Given the description of an element on the screen output the (x, y) to click on. 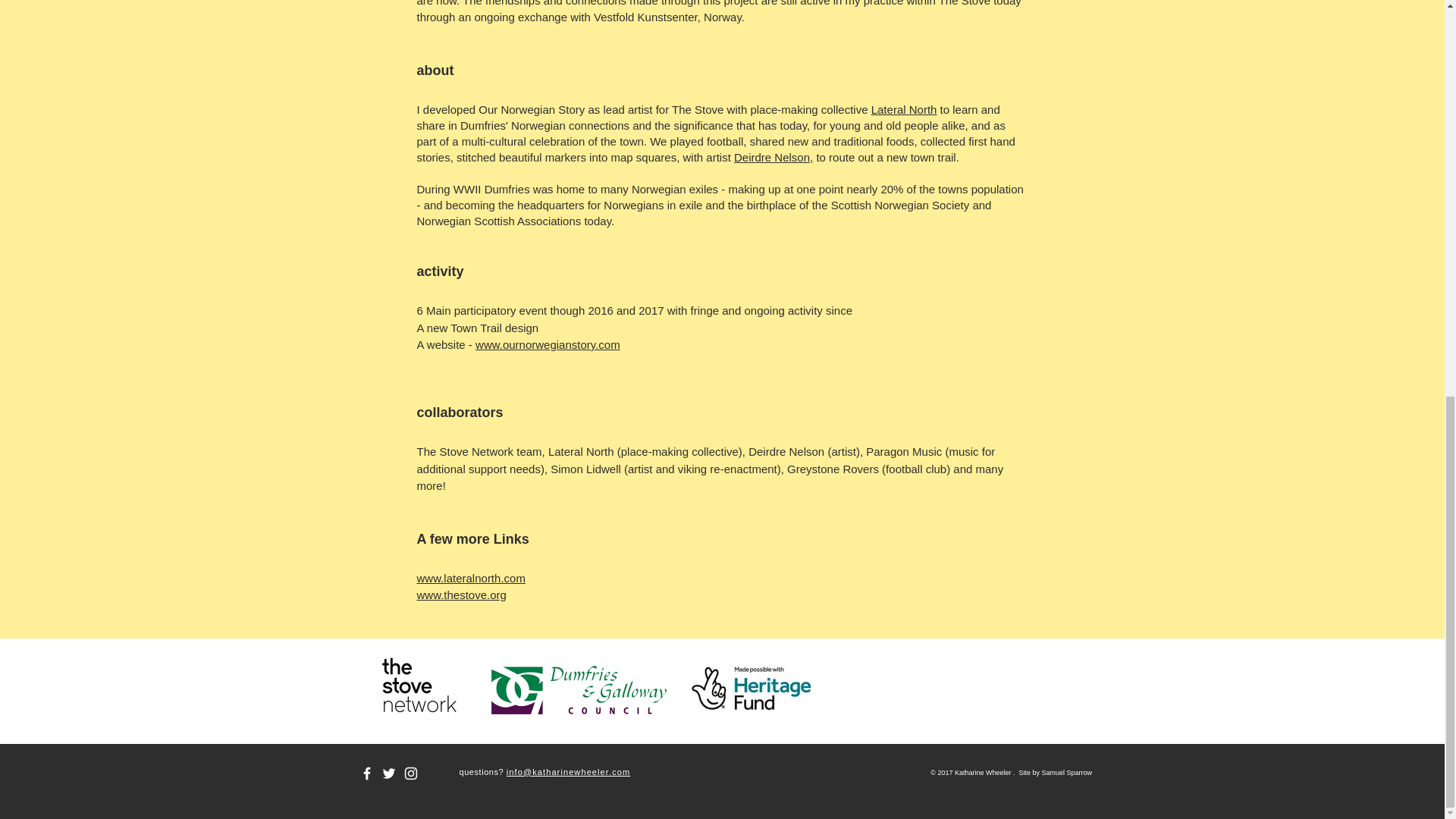
www.ournorwegianstory.com (548, 344)
www.lateralnorth.com (470, 576)
www.thestove.org (461, 594)
Lateral North (903, 108)
Deirdre Nelson, (772, 156)
